Given the description of an element on the screen output the (x, y) to click on. 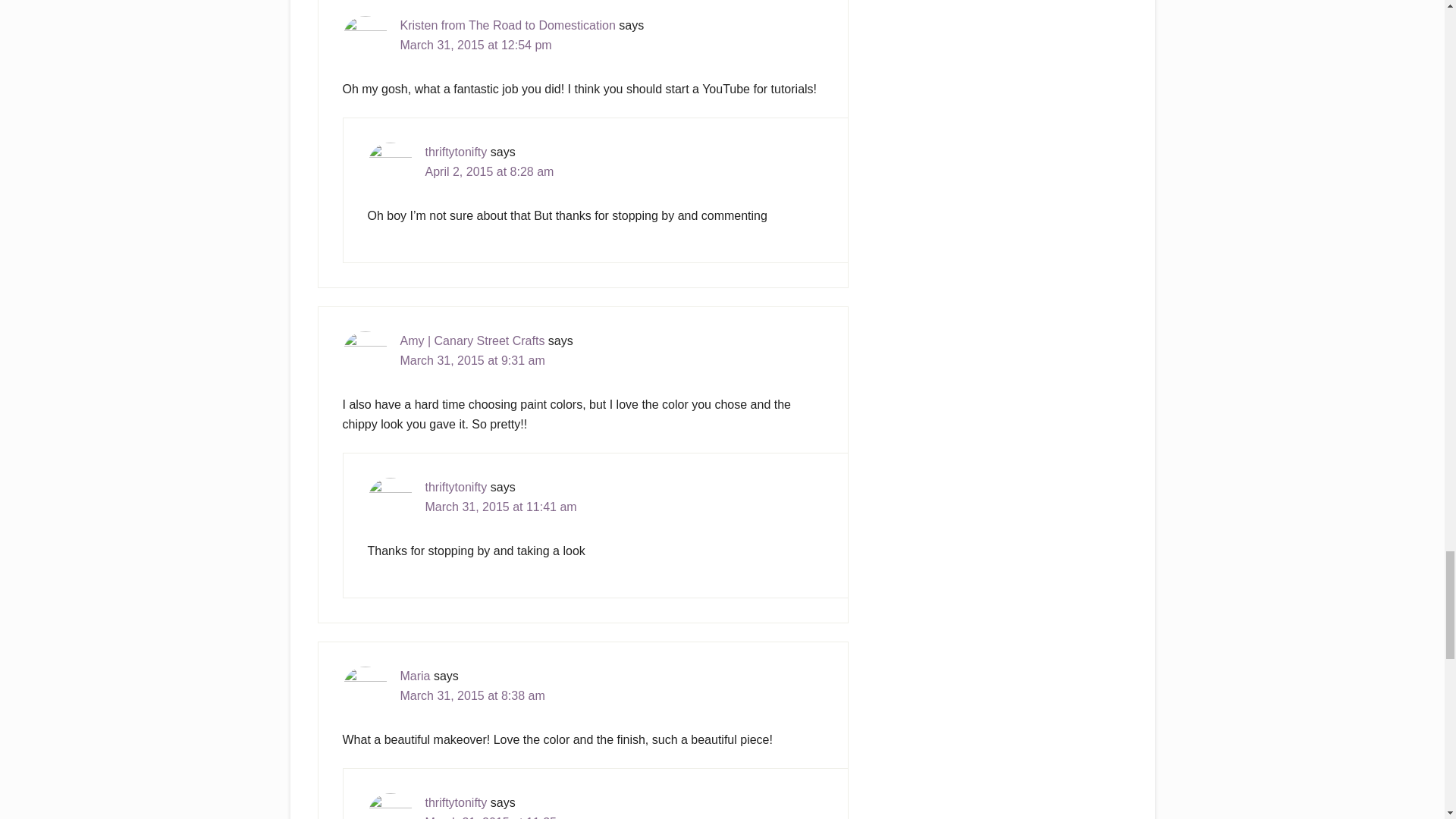
March 31, 2015 at 8:38 am (472, 695)
March 31, 2015 at 9:31 am (472, 359)
March 31, 2015 at 12:54 pm (475, 44)
thriftytonifty (455, 802)
March 31, 2015 at 11:41 am (500, 506)
thriftytonifty (455, 151)
April 2, 2015 at 8:28 am (489, 171)
March 31, 2015 at 11:35 am (500, 817)
Maria (415, 675)
Kristen from The Road to Domestication (507, 24)
